Given the description of an element on the screen output the (x, y) to click on. 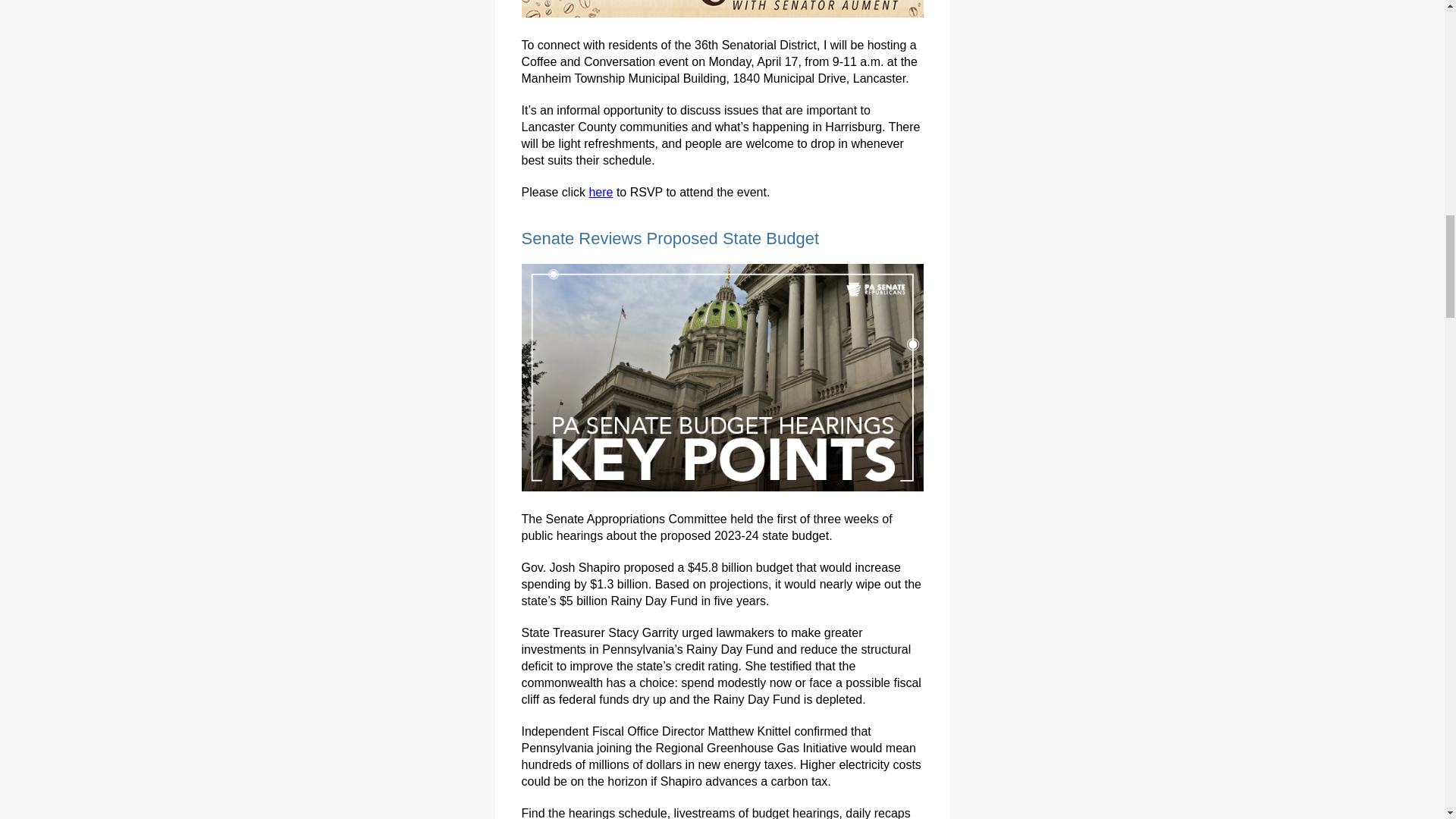
here (600, 192)
